Given the description of an element on the screen output the (x, y) to click on. 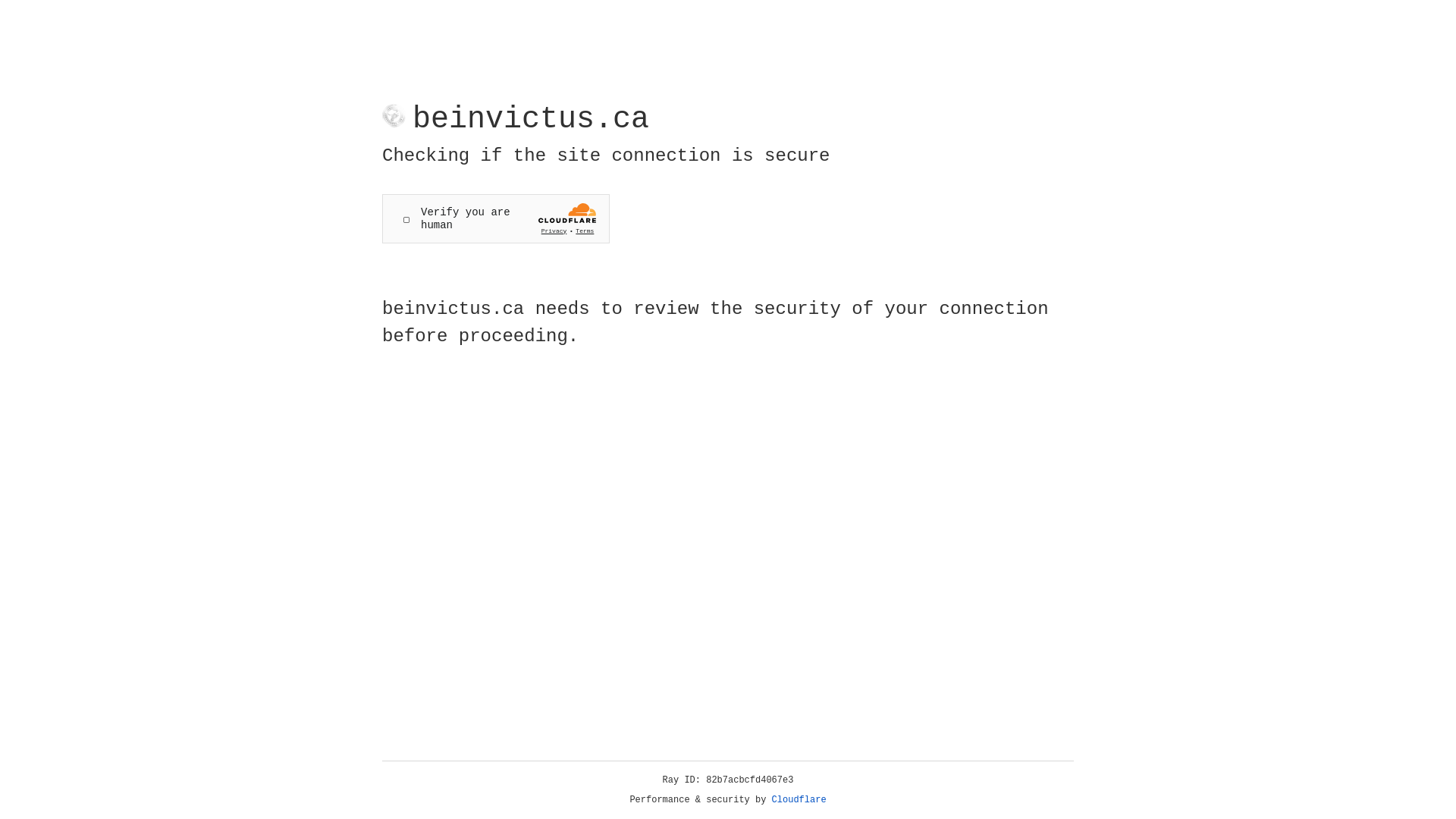
Cloudflare Element type: text (798, 799)
Widget containing a Cloudflare security challenge Element type: hover (495, 218)
